Given the description of an element on the screen output the (x, y) to click on. 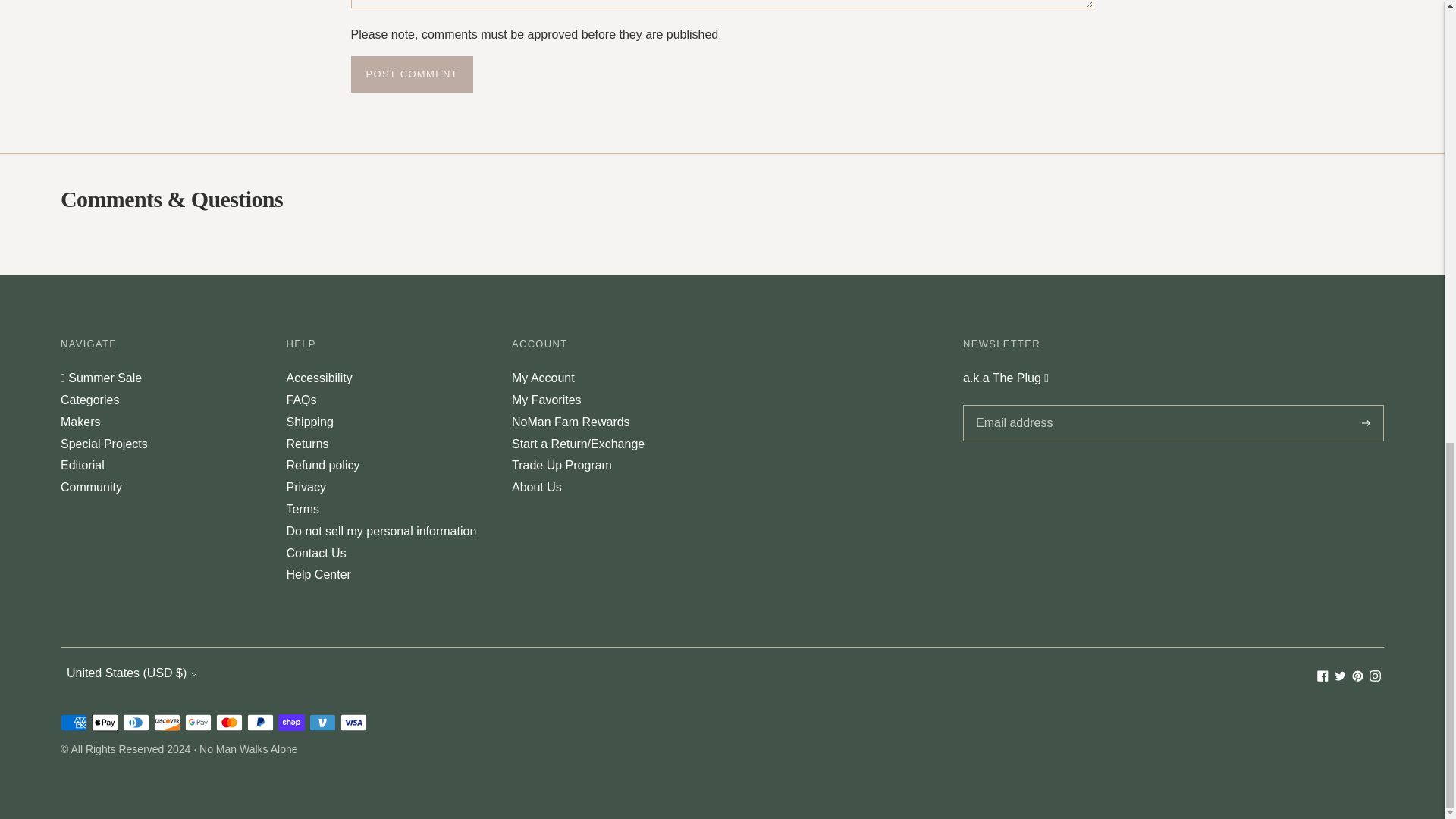
Diners Club (135, 722)
American Express (74, 722)
Discover (167, 722)
No Man Walks Alone (248, 748)
Apple Pay (104, 722)
